Given the description of an element on the screen output the (x, y) to click on. 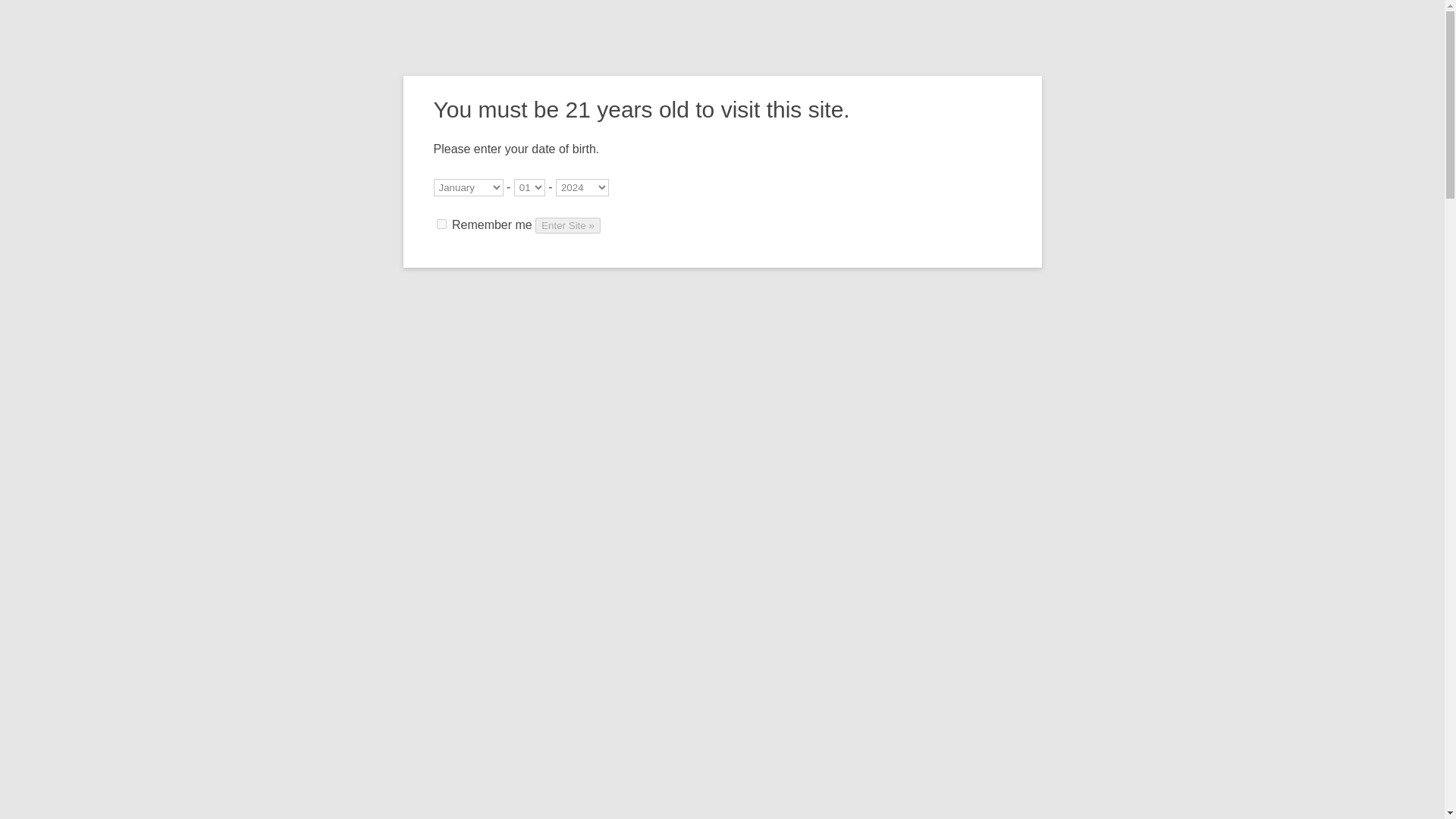
Search This Site... (998, 296)
Our Story (677, 67)
Kurtzhaus Brewing Blog (473, 296)
Home (620, 67)
Blog (910, 67)
1 (441, 224)
Contact (958, 67)
Home (374, 296)
Contests (859, 67)
